Given the description of an element on the screen output the (x, y) to click on. 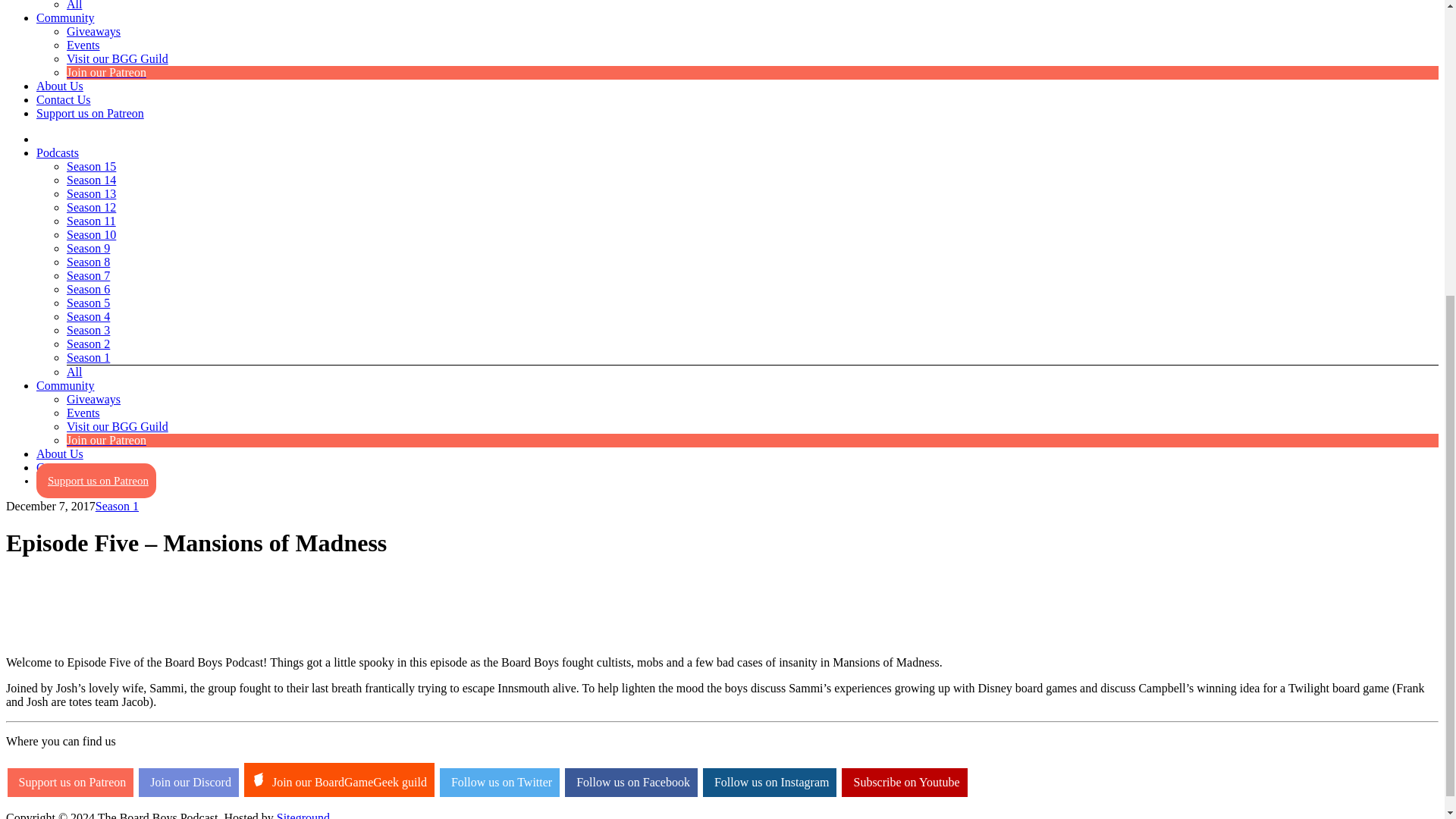
Community (65, 17)
Season 8 (88, 261)
Season 9 (88, 247)
Season 12 (91, 206)
Season 11 (91, 220)
Podcasts (57, 152)
Giveaways (93, 31)
Season 14 (91, 179)
Join our Patreon (106, 72)
Support us on Patreon (90, 113)
